Given the description of an element on the screen output the (x, y) to click on. 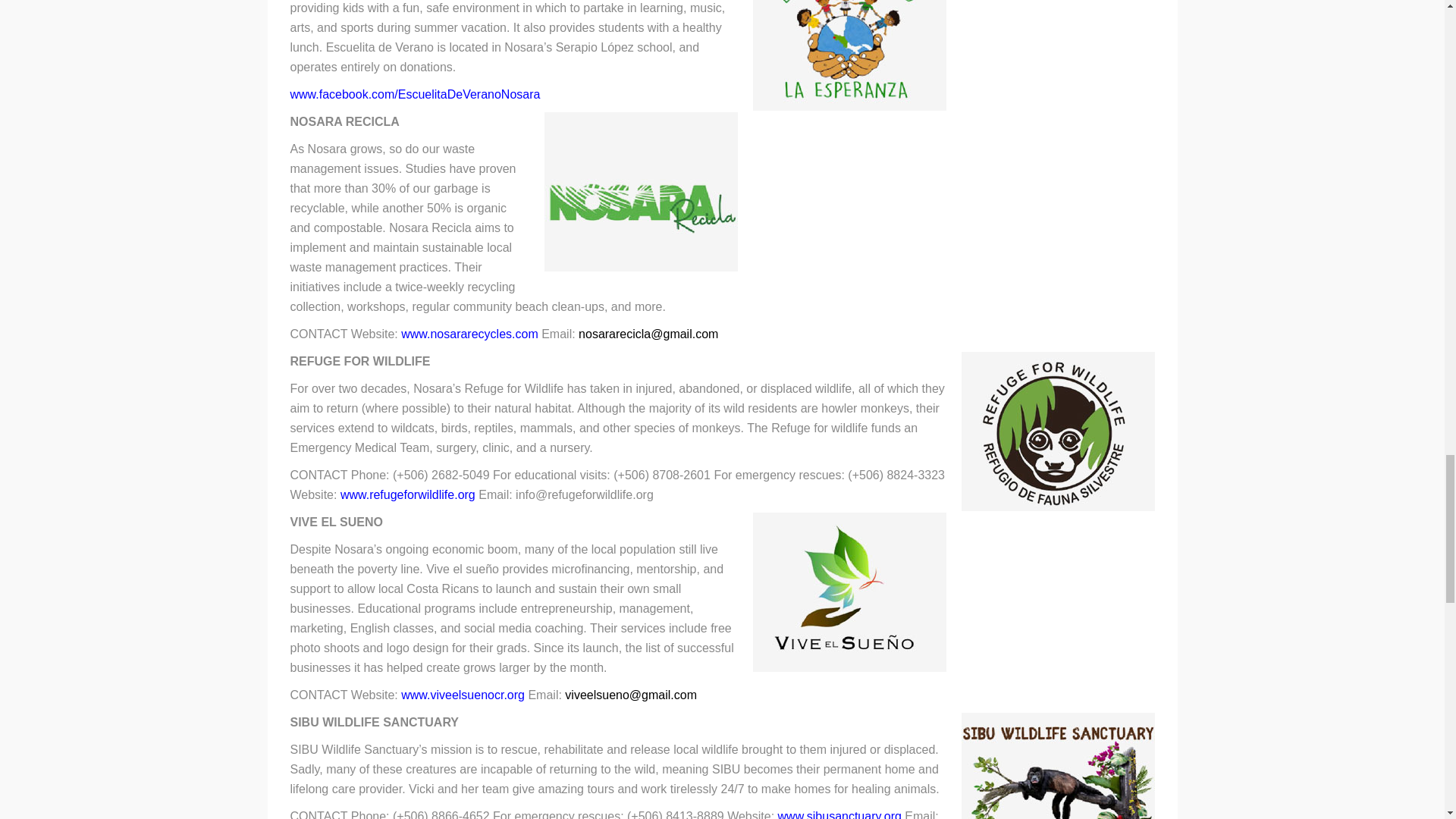
www.nosararecycles.com (471, 333)
www.viveelsuenocr.org (464, 694)
www.refugeforwildlife.org (409, 494)
